Given the description of an element on the screen output the (x, y) to click on. 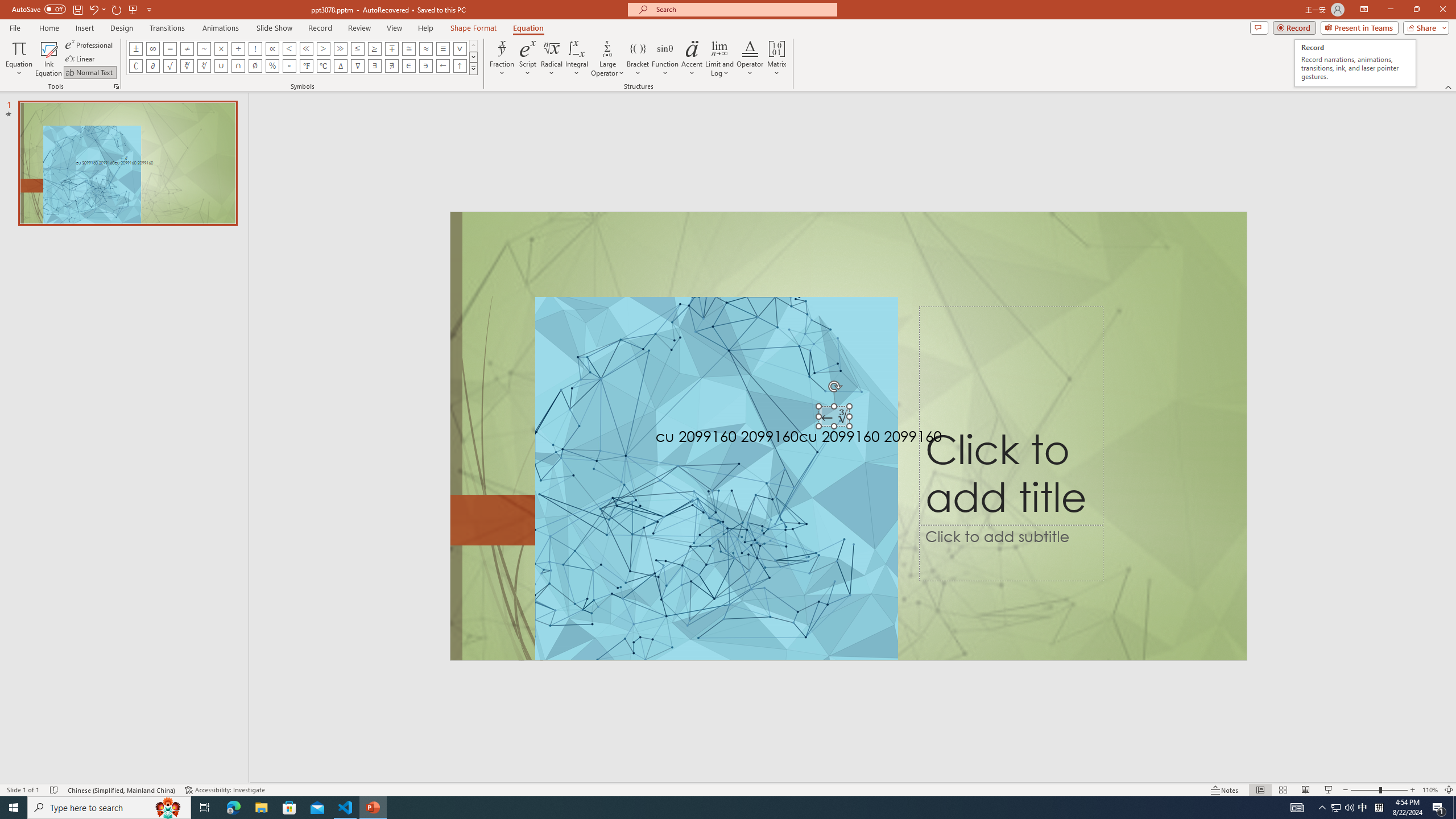
Equation Symbol Intersection (238, 65)
Equation Symbol There Does Not Exist (391, 65)
Fraction (502, 58)
Equation Symbol Identical To (442, 48)
Equation Symbol Less Than (289, 48)
Equation Symbol Minus Plus (391, 48)
Equation Symbol Not Equal To (187, 48)
Linear (81, 58)
